Given the description of an element on the screen output the (x, y) to click on. 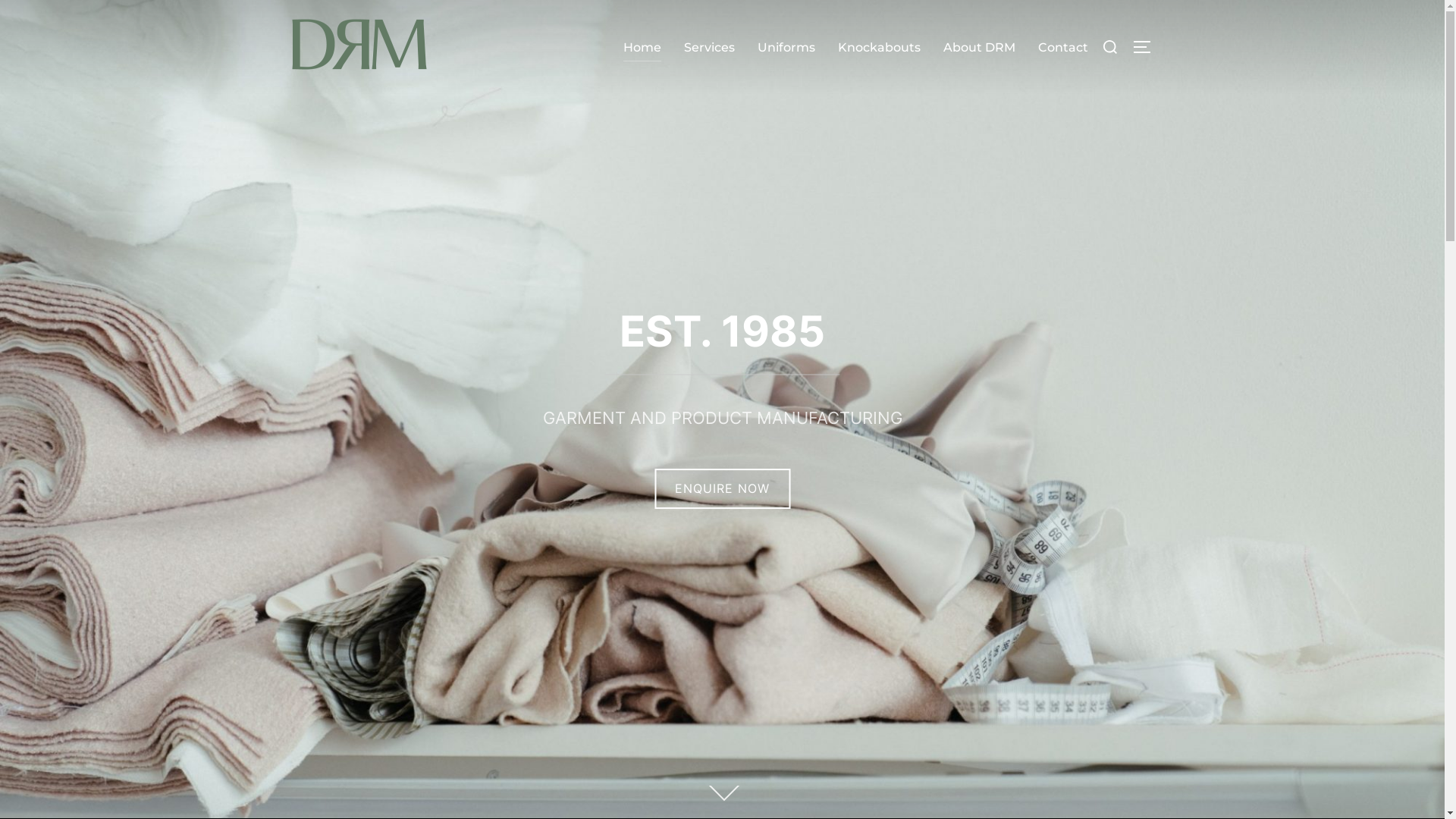
TOGGLE SIDEBAR & NAVIGATION Element type: text (1146, 46)
Contact Element type: text (1062, 47)
Services Element type: text (709, 47)
EST. 1985 Element type: text (722, 331)
Uniforms Element type: text (785, 47)
Knockabouts Element type: text (878, 47)
About DRM Element type: text (979, 47)
Home Element type: text (642, 47)
ENQUIRE NOW Element type: text (722, 488)
